Given the description of an element on the screen output the (x, y) to click on. 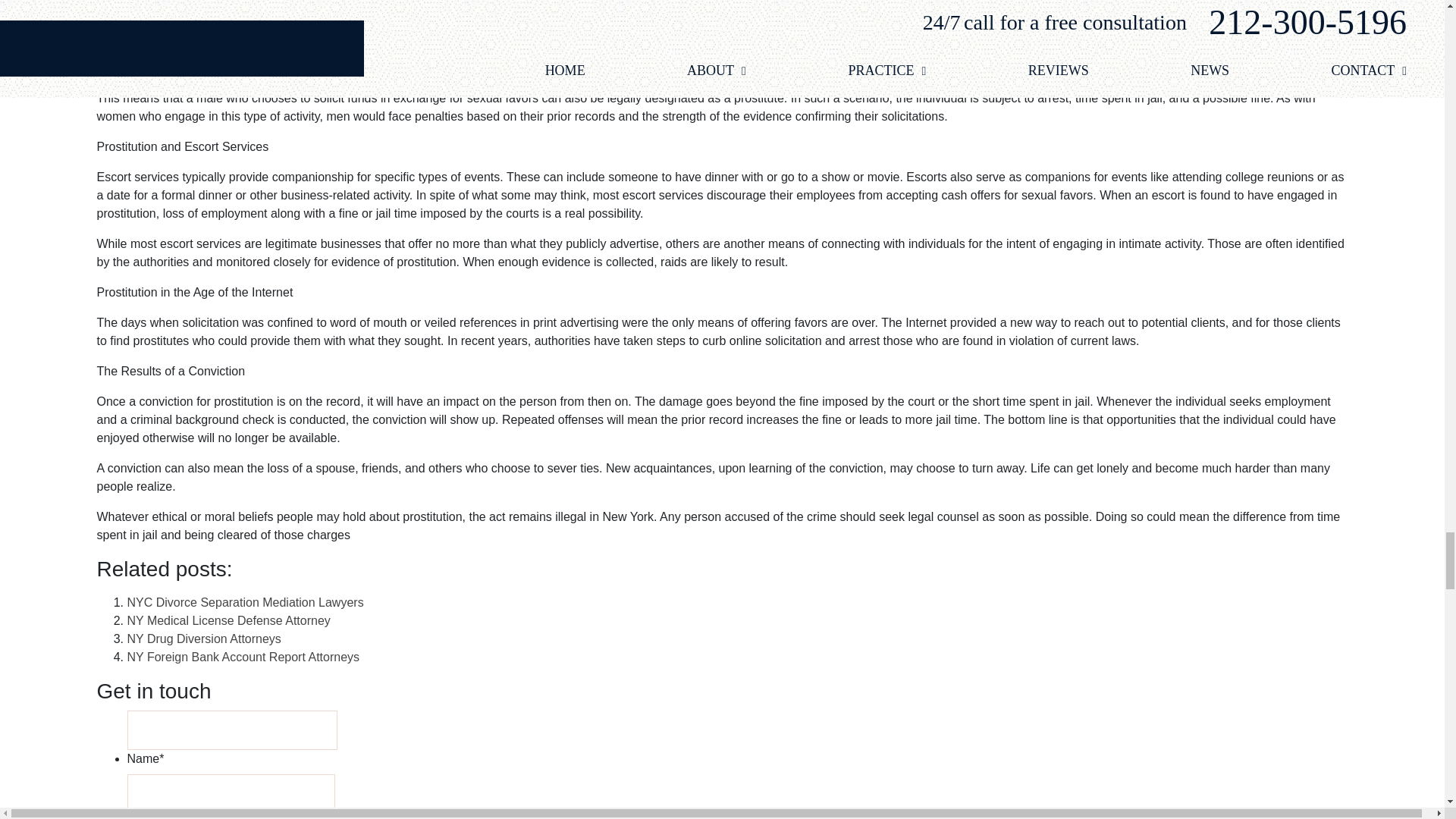
NYC Divorce Separation Mediation Lawyers (246, 602)
NY Medical License Defense Attorney (229, 620)
NY Drug Diversion Attorneys (204, 638)
NY Foreign Bank Account Report Attorneys (243, 656)
